Given the description of an element on the screen output the (x, y) to click on. 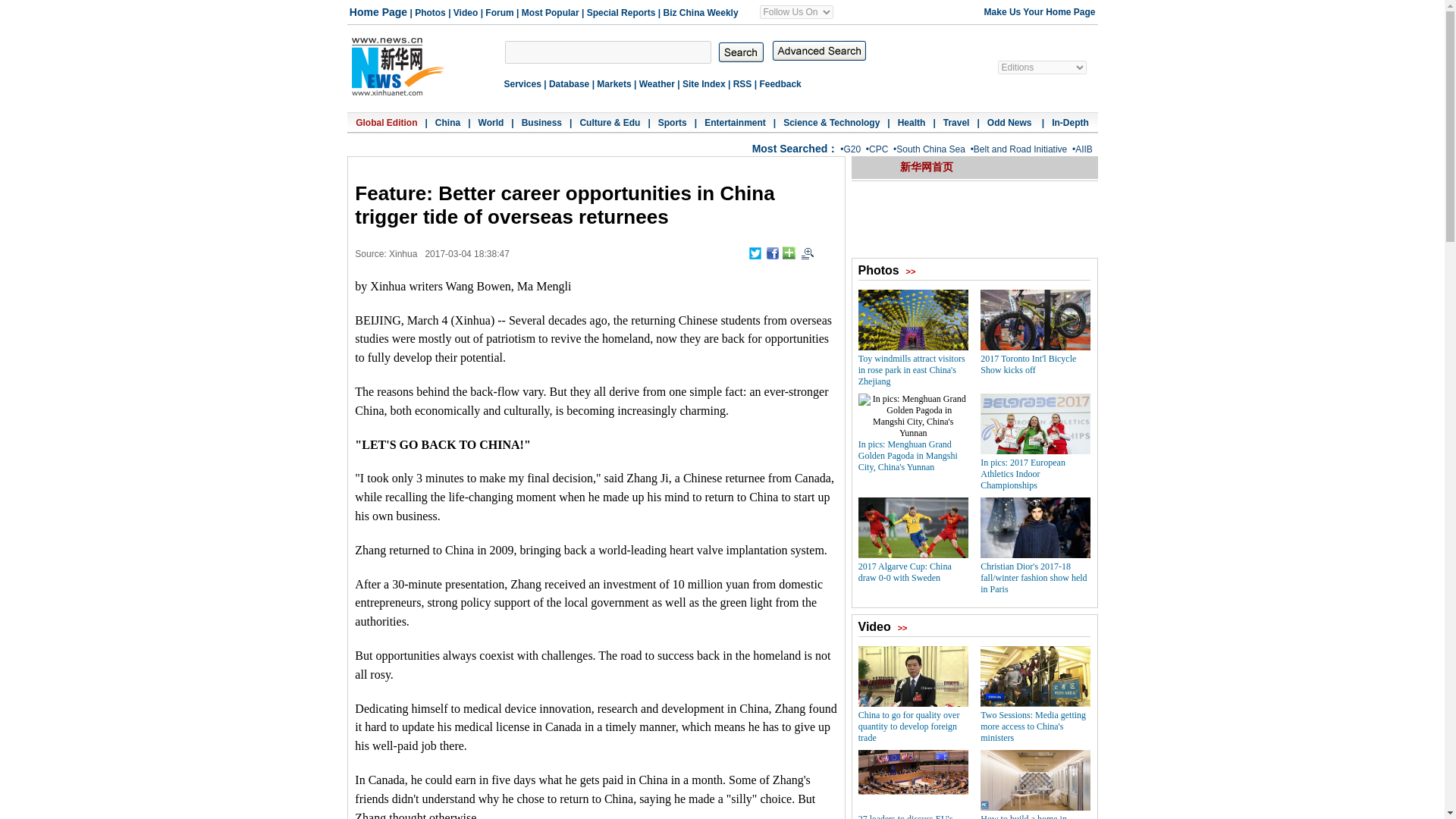
Site Index (703, 83)
Weather (657, 83)
G20 (851, 149)
China (447, 122)
CPC (878, 149)
Entertainment (734, 122)
In-Depth (1070, 122)
Markets (613, 83)
RSS (742, 83)
World (491, 122)
